Given the description of an element on the screen output the (x, y) to click on. 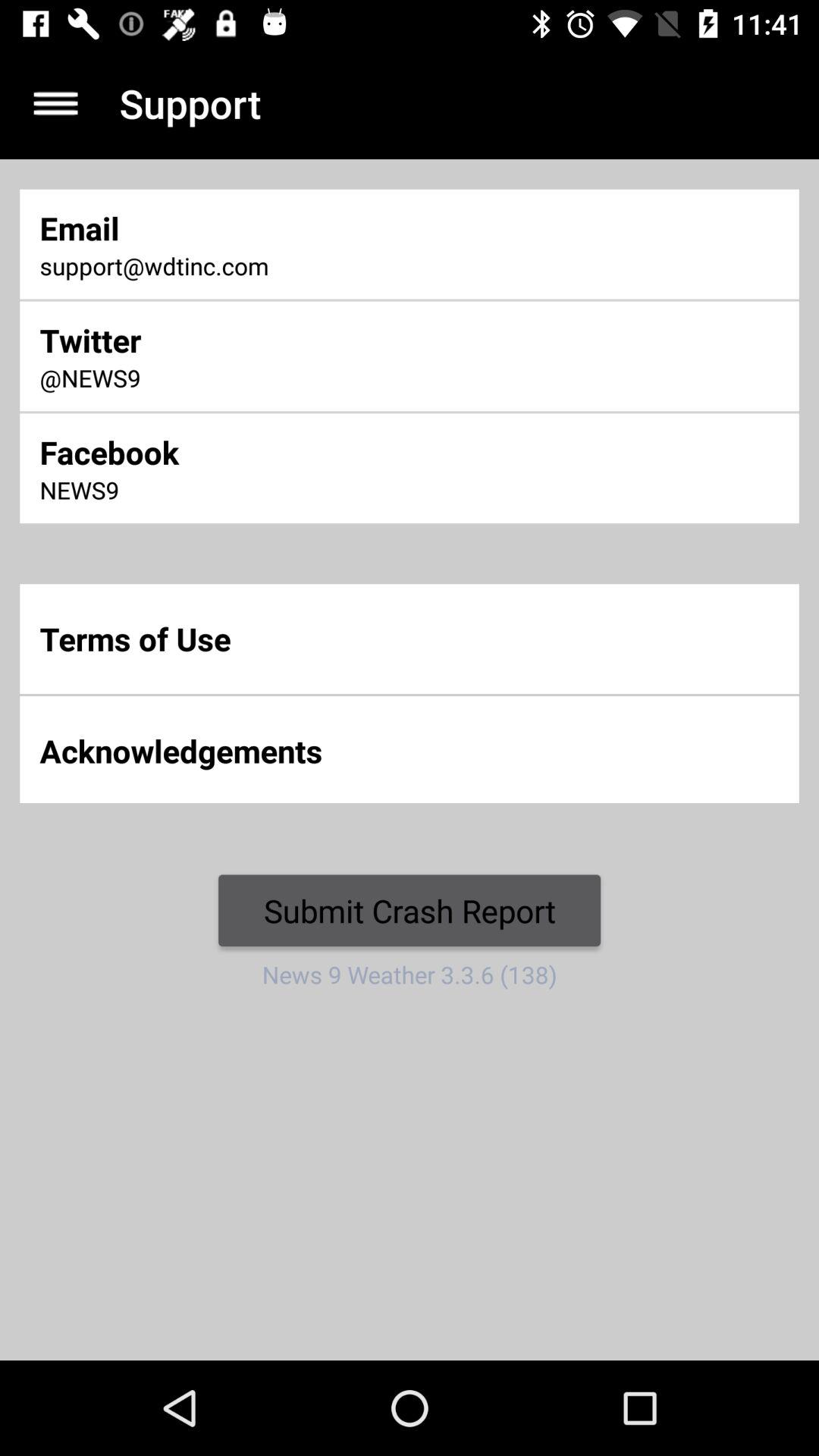
flip to twitter (272, 339)
